Given the description of an element on the screen output the (x, y) to click on. 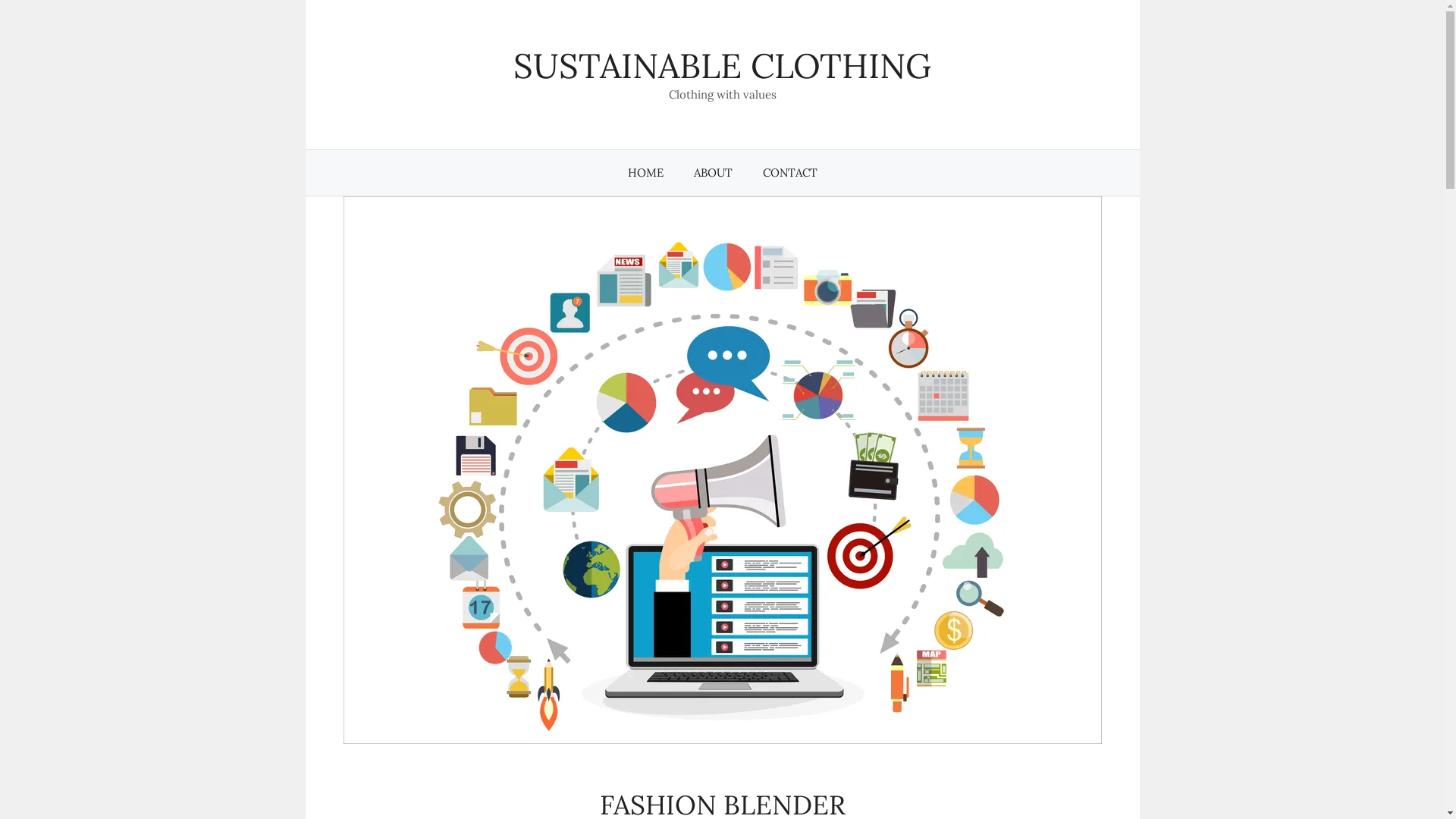
SUSTAINABLE CLOTHING Element type: text (722, 65)
HOME Element type: text (645, 172)
CONTACT Element type: text (789, 172)
ABOUT Element type: text (711, 172)
